Given the description of an element on the screen output the (x, y) to click on. 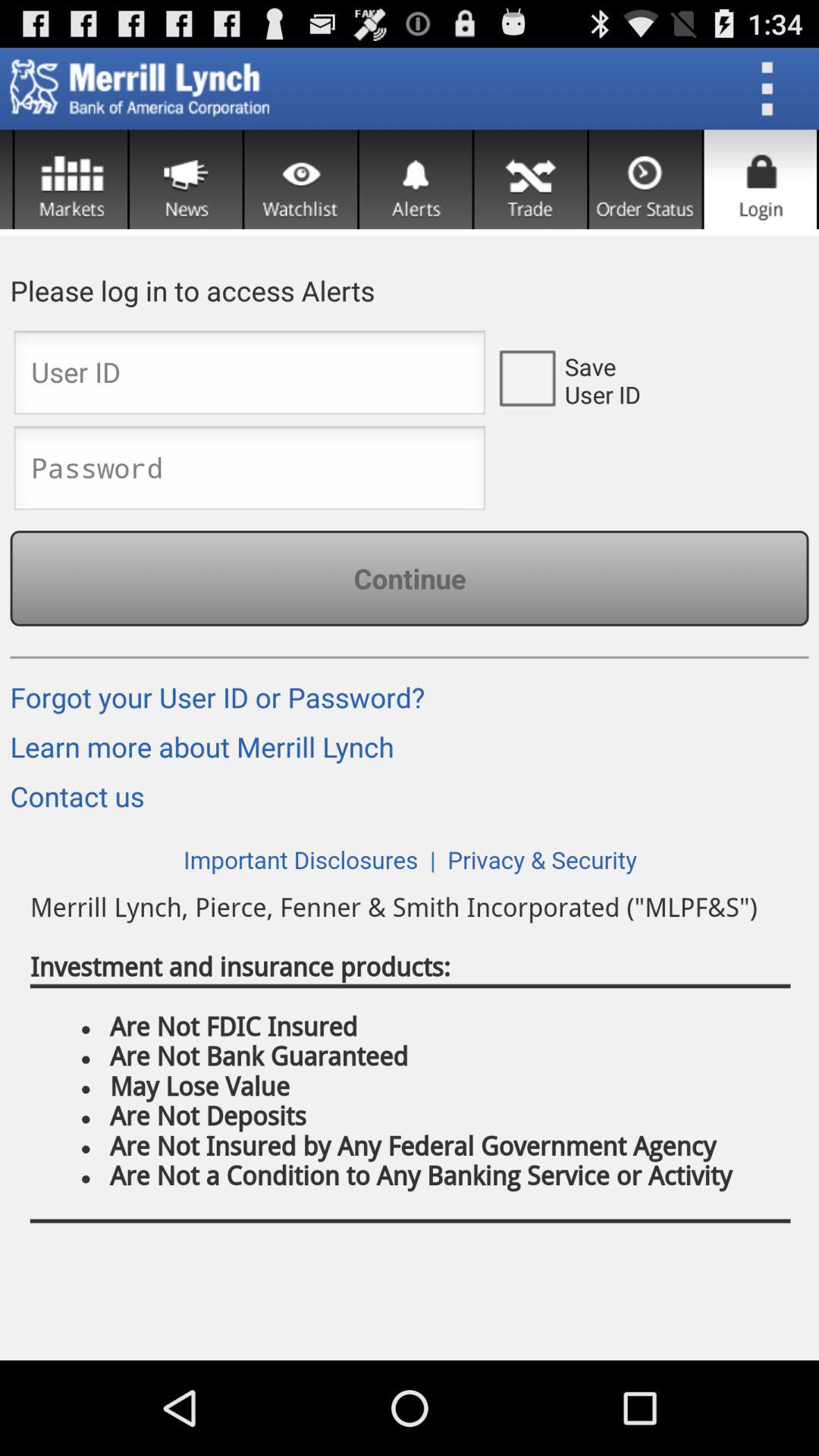
add new (185, 179)
